Given the description of an element on the screen output the (x, y) to click on. 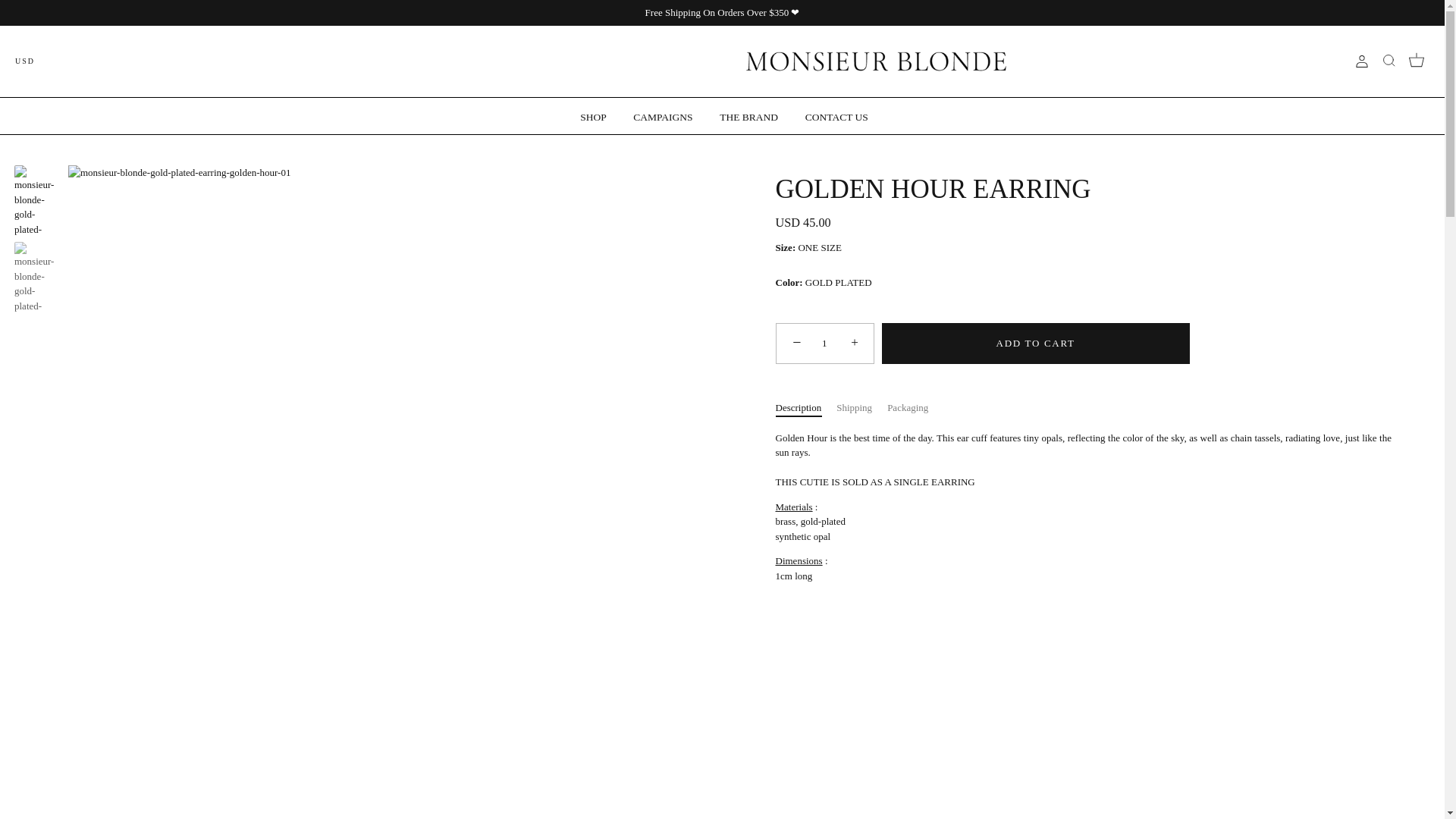
1 (824, 343)
Cart (1416, 59)
